Given the description of an element on the screen output the (x, y) to click on. 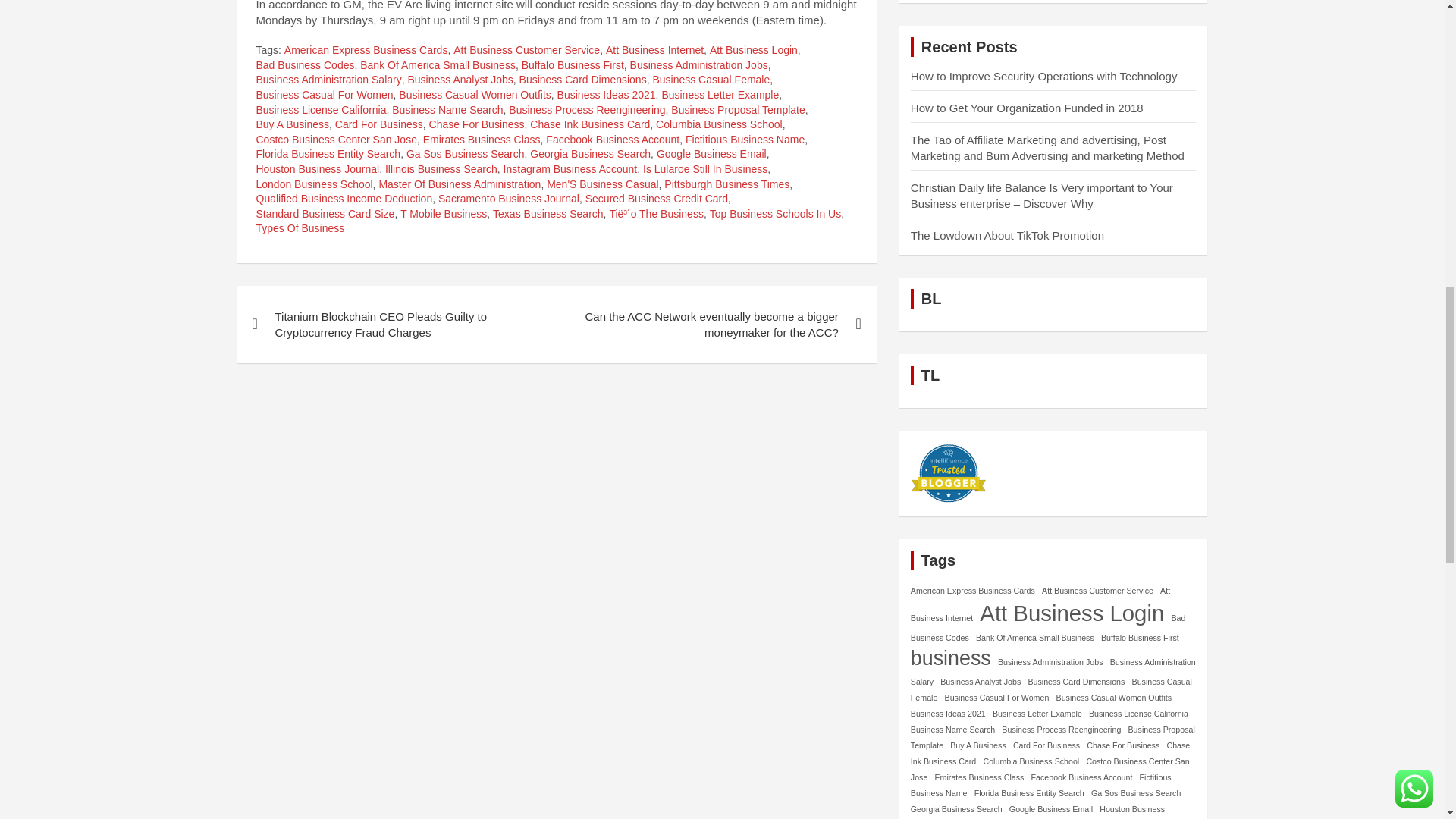
Business Casual For Women (324, 95)
Business Administration Salary (328, 79)
Bad Business Codes (305, 65)
Business Administration Jobs (699, 65)
Business Process Reengineering (586, 110)
Business Letter Example (719, 95)
Business Casual Women Outfits (474, 95)
Business Ideas 2021 (606, 95)
Att Business Login (753, 50)
Att Business Internet (654, 50)
